Given the description of an element on the screen output the (x, y) to click on. 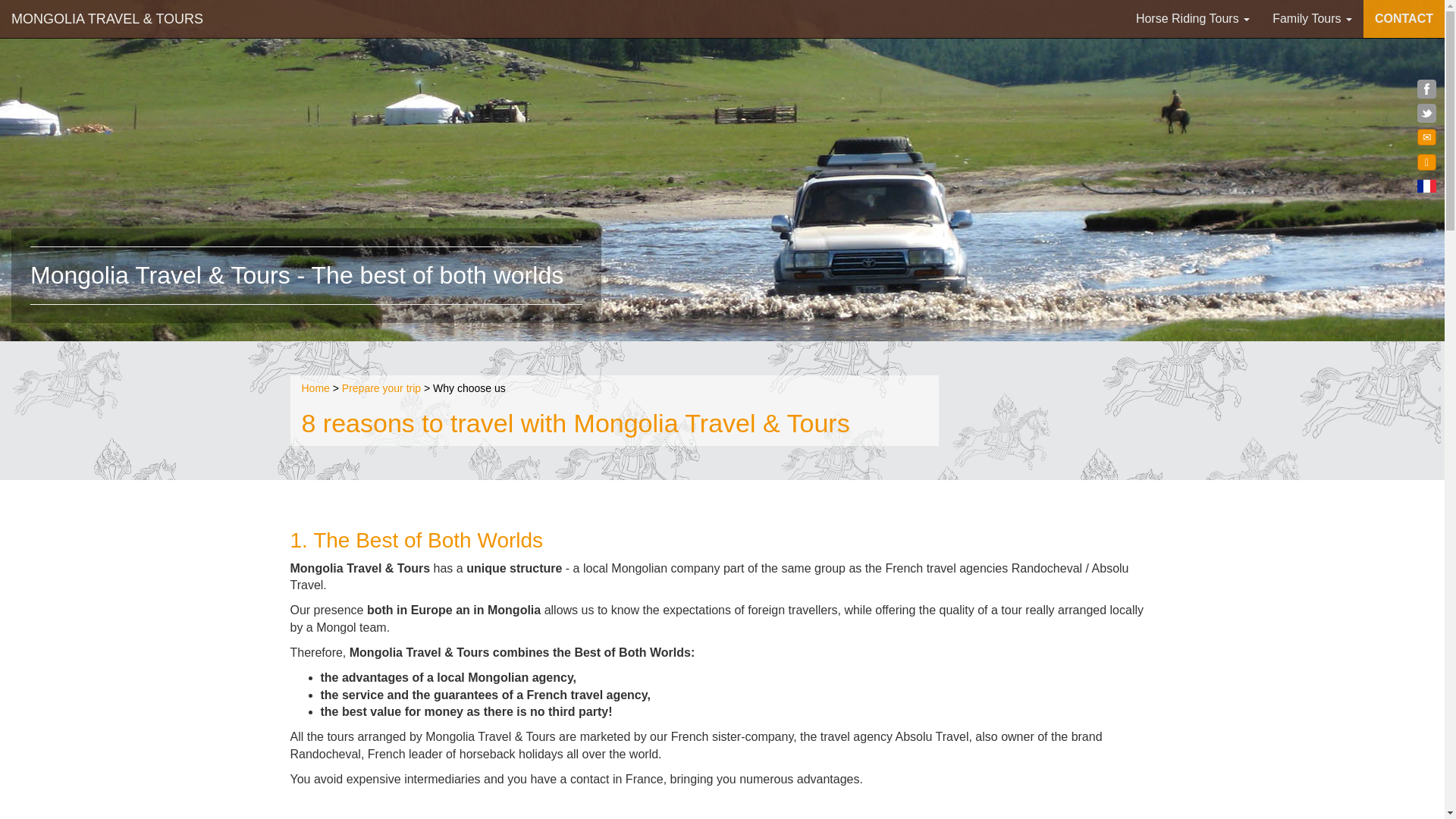
Home (315, 387)
Prepare your trip (381, 387)
Horse Riding Tours (1192, 18)
Family Tours (1311, 18)
